Given the description of an element on the screen output the (x, y) to click on. 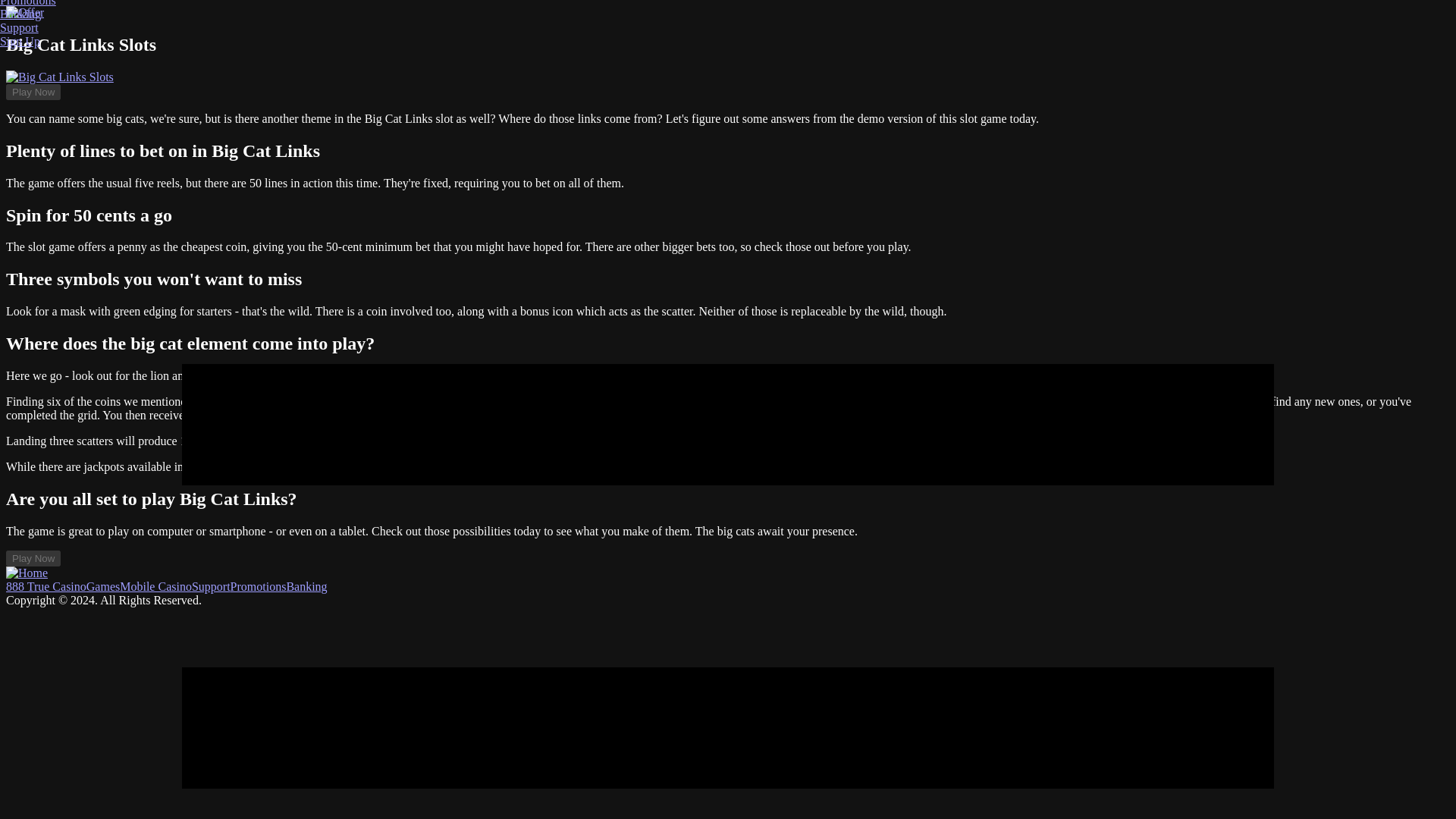
Games (102, 585)
Banking (305, 585)
Play Now (33, 91)
Promotions (258, 585)
Play Now (33, 558)
888 True Casino (45, 585)
Mobile Casino (155, 585)
Support (211, 585)
